Given the description of an element on the screen output the (x, y) to click on. 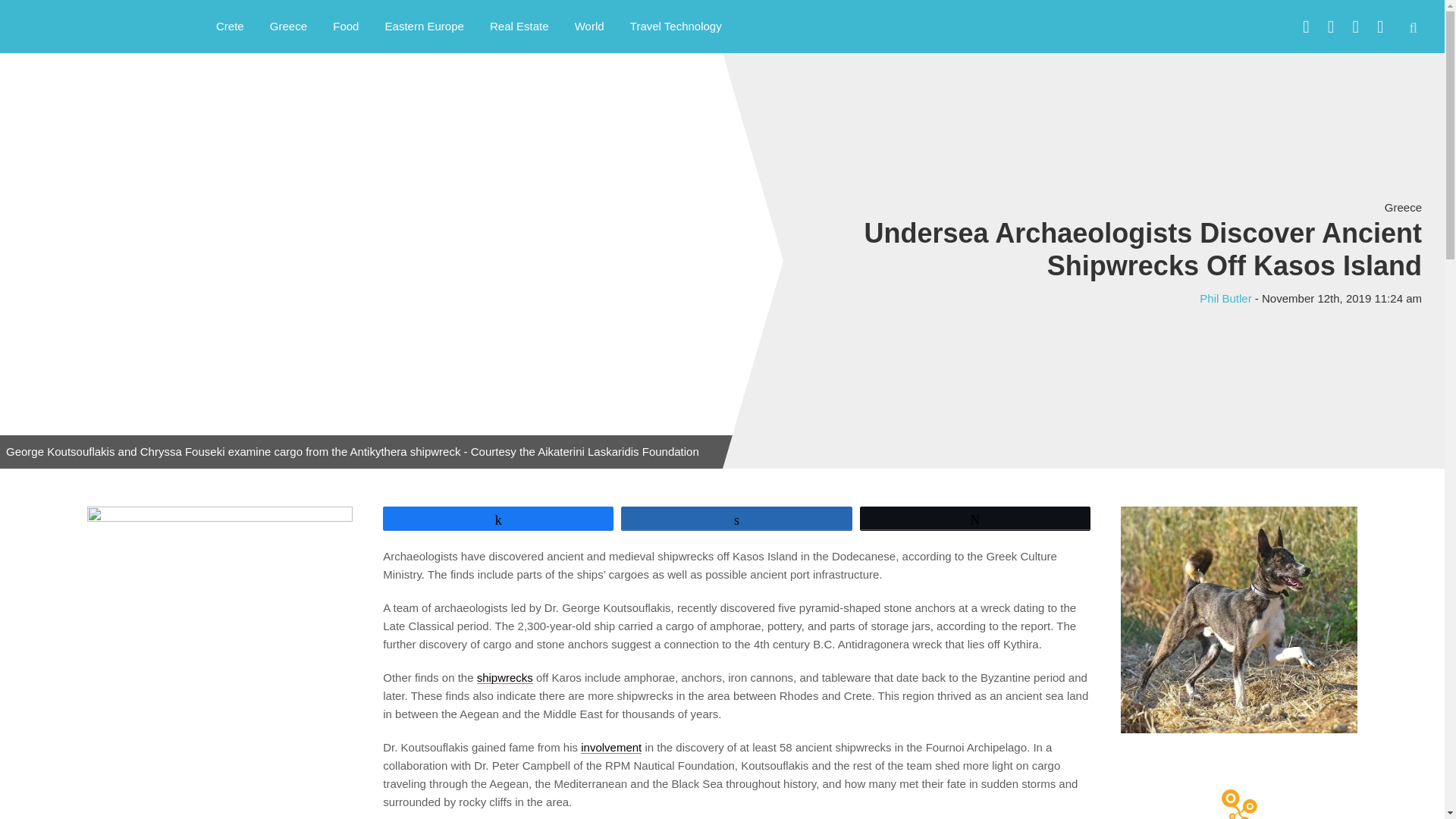
Eastern Europe (425, 26)
Phil Butler (1224, 297)
Food (345, 26)
Argophilia (90, 24)
shipwrecks (504, 676)
Crete (230, 26)
Posts by Phil Butler (1224, 297)
Greece (288, 26)
Greece (1403, 206)
involvement (611, 747)
